Given the description of an element on the screen output the (x, y) to click on. 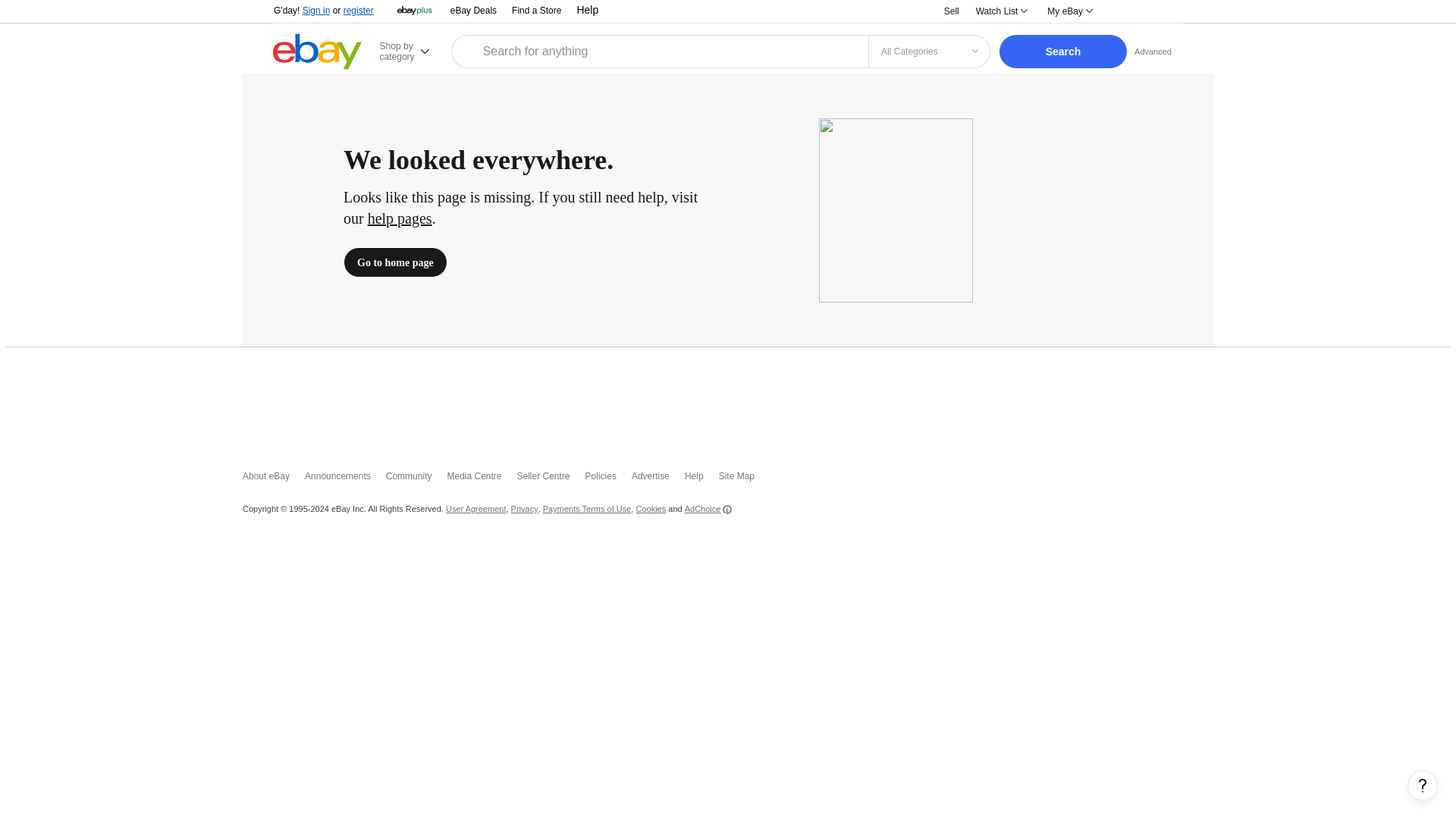
Search (1062, 51)
Watch List (1001, 11)
Shop by category (413, 51)
Notifications (1122, 11)
Advanced search (1152, 51)
My eBay (1069, 11)
ADVERTISEMENT (727, 398)
